Given the description of an element on the screen output the (x, y) to click on. 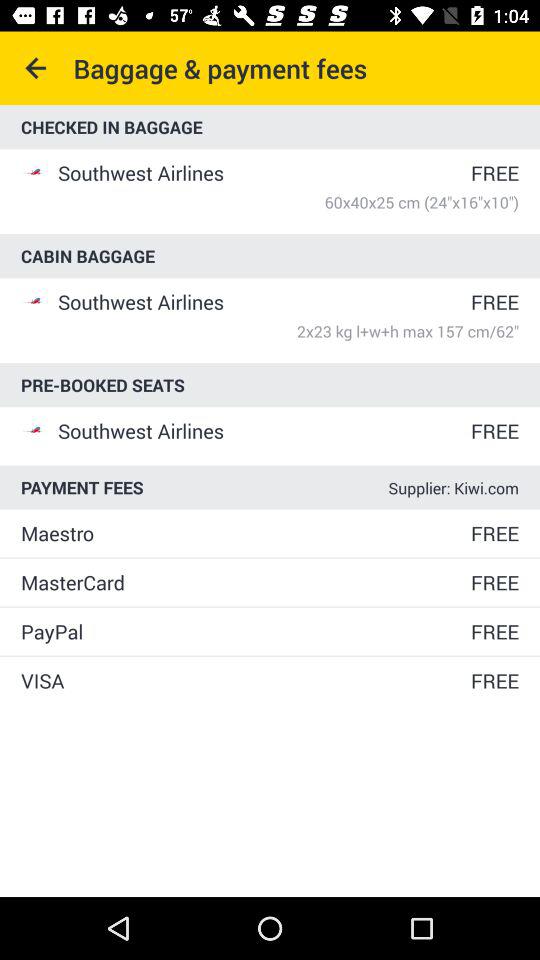
open item above the cabin baggage (288, 201)
